Given the description of an element on the screen output the (x, y) to click on. 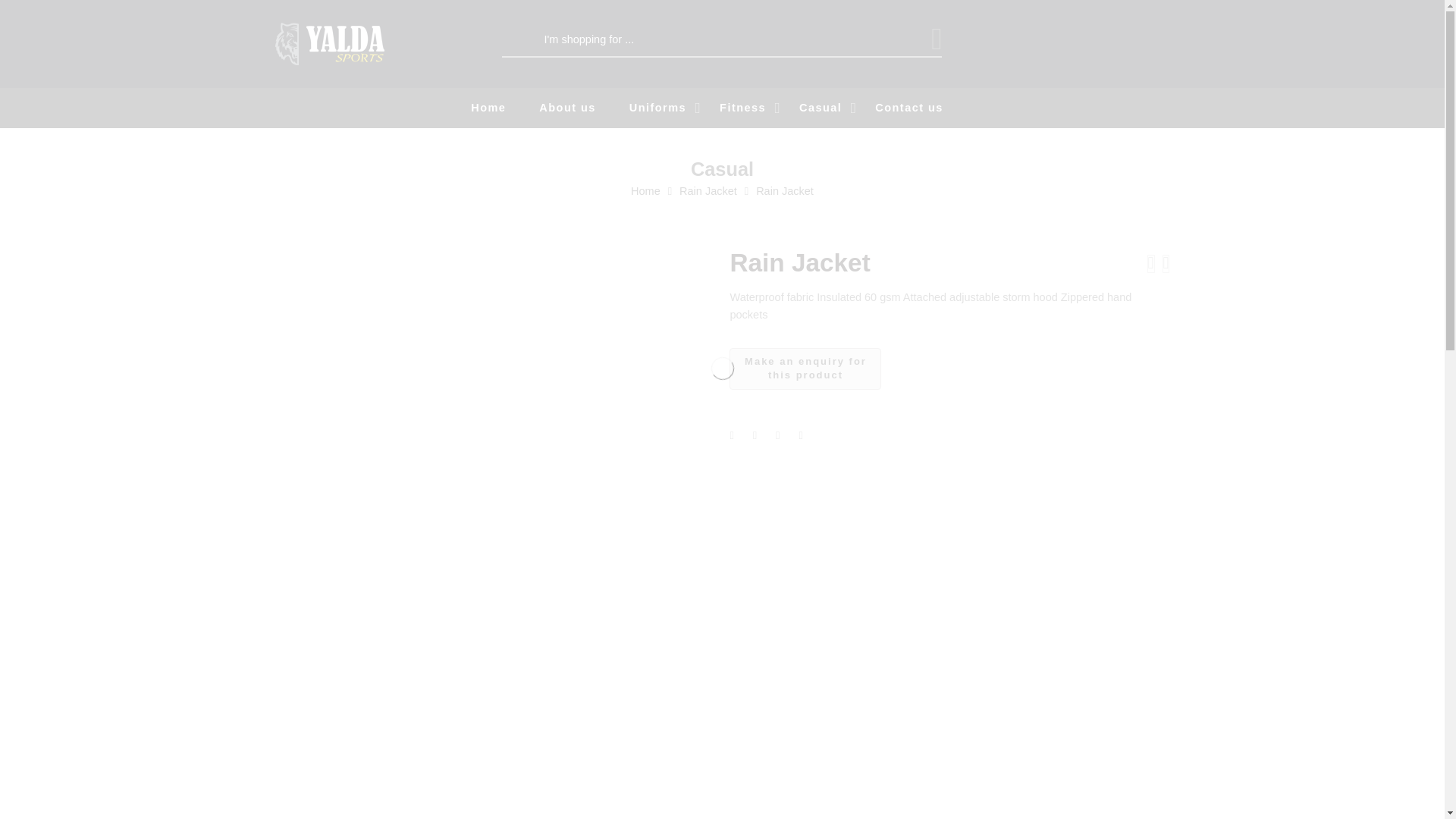
Uniforms (672, 107)
Fitness (757, 107)
Home (502, 107)
Casual (835, 107)
About us (582, 107)
Contact us (923, 107)
Uniforms (672, 107)
Yalda Sports - Sports Wears Industry (329, 42)
About us (804, 368)
Home (582, 107)
Fitness (502, 107)
